Given the description of an element on the screen output the (x, y) to click on. 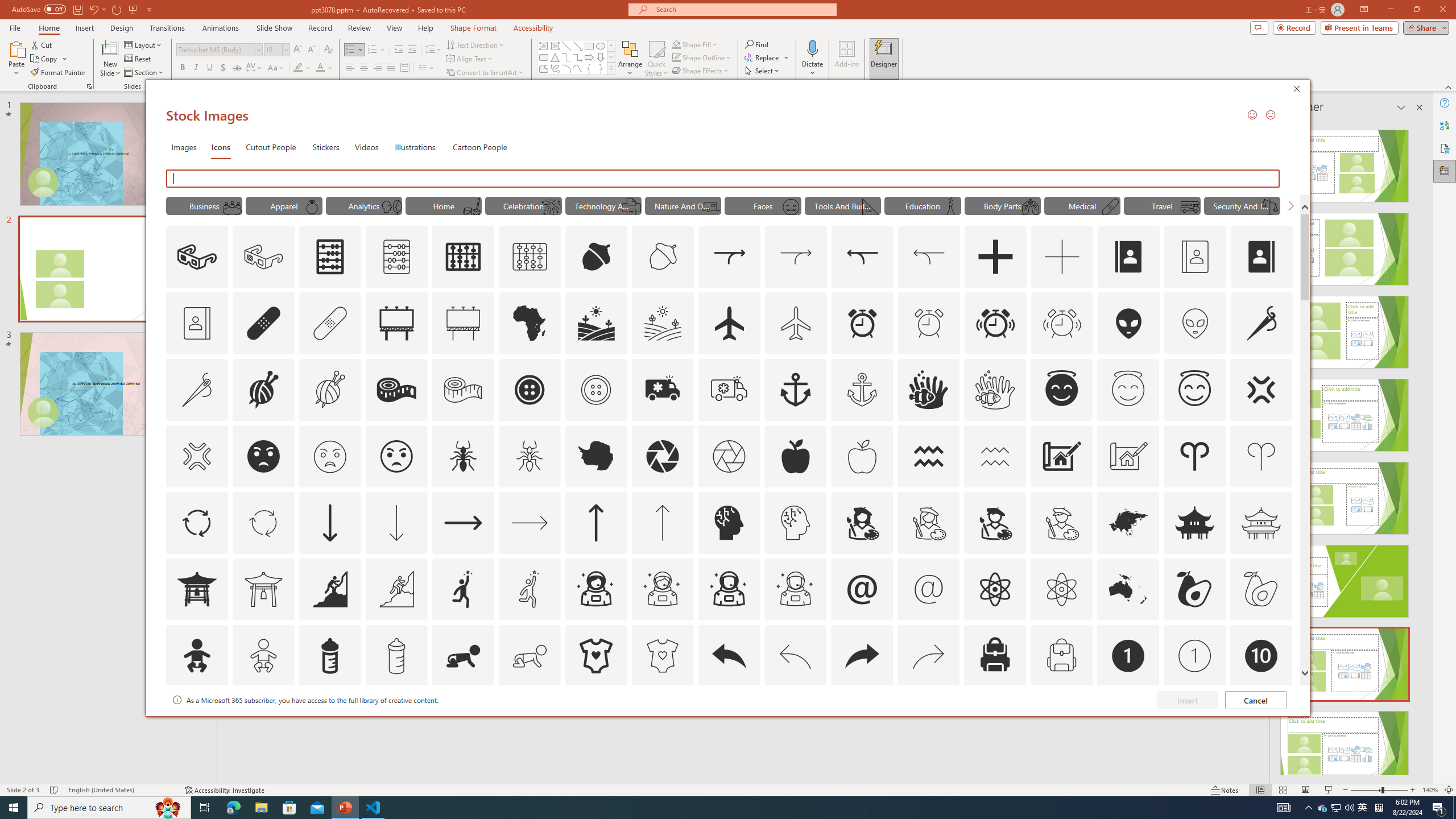
AutomationID: Icons_Rv_M (1190, 206)
AutomationID: Icons_Acorn_M (663, 256)
Arc (566, 68)
Distributed (404, 67)
Icons (220, 146)
AutomationID: Icons_BabyOnesie_M (662, 655)
AutomationID: Icons_Aspiration1_M (529, 588)
AutomationID: Icons_ArtistMale (995, 522)
AutomationID: Icons_Badge4_M (595, 721)
AutomationID: Icons_Badge2 (263, 721)
